Given the description of an element on the screen output the (x, y) to click on. 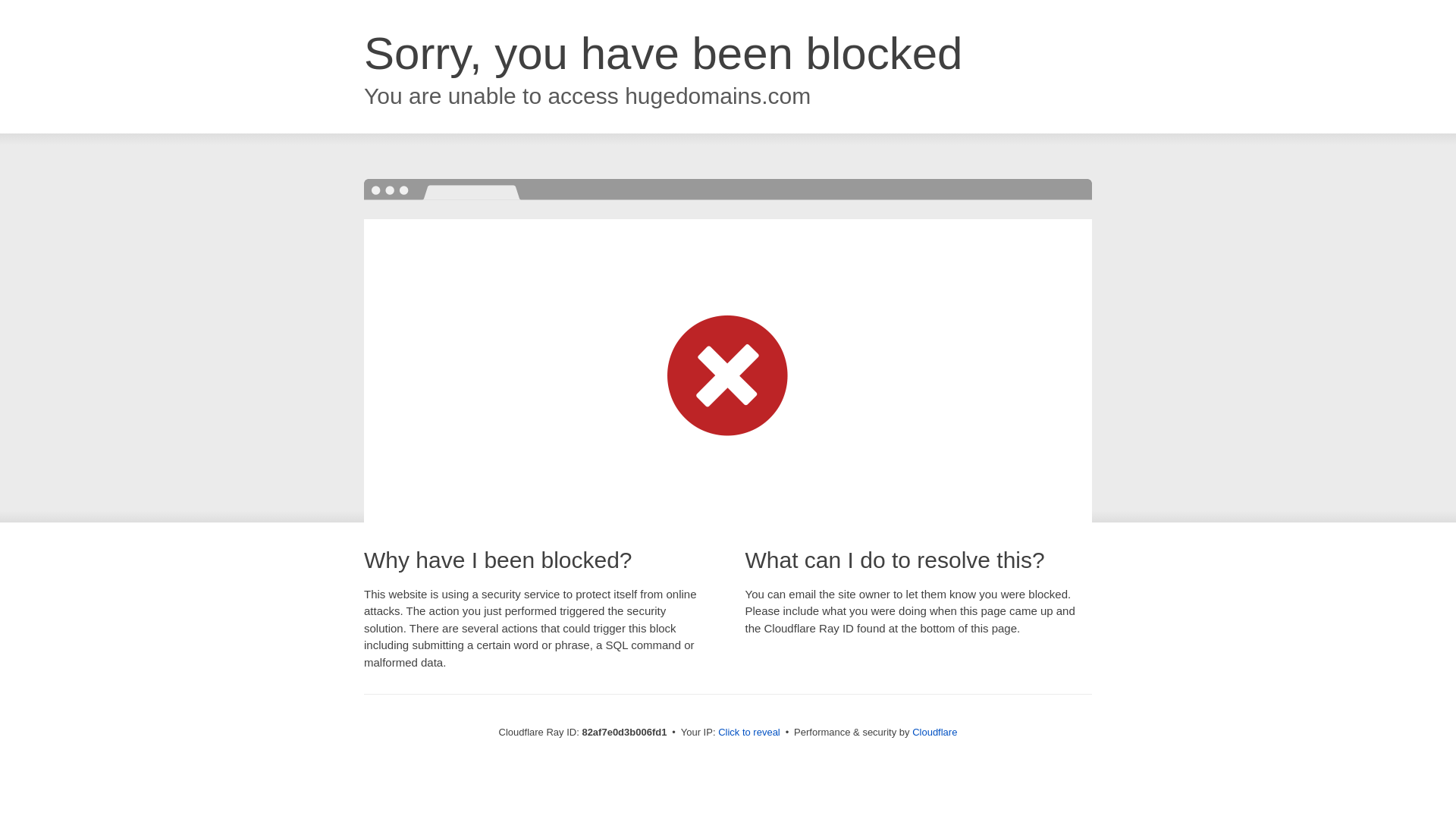
Click to reveal Element type: text (749, 732)
Cloudflare Element type: text (934, 731)
